Given the description of an element on the screen output the (x, y) to click on. 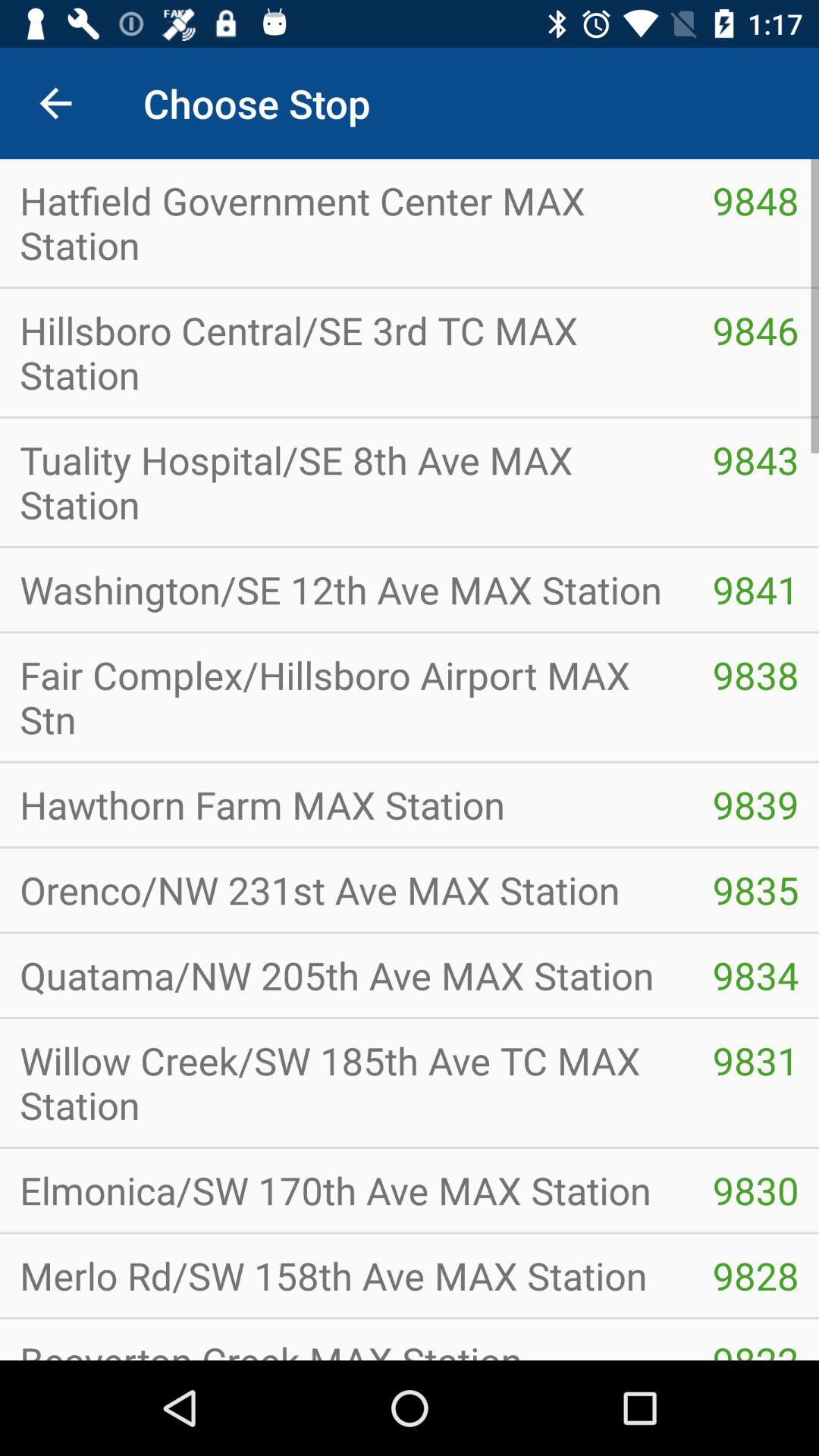
select the icon above the quatama nw 205th item (755, 889)
